Given the description of an element on the screen output the (x, y) to click on. 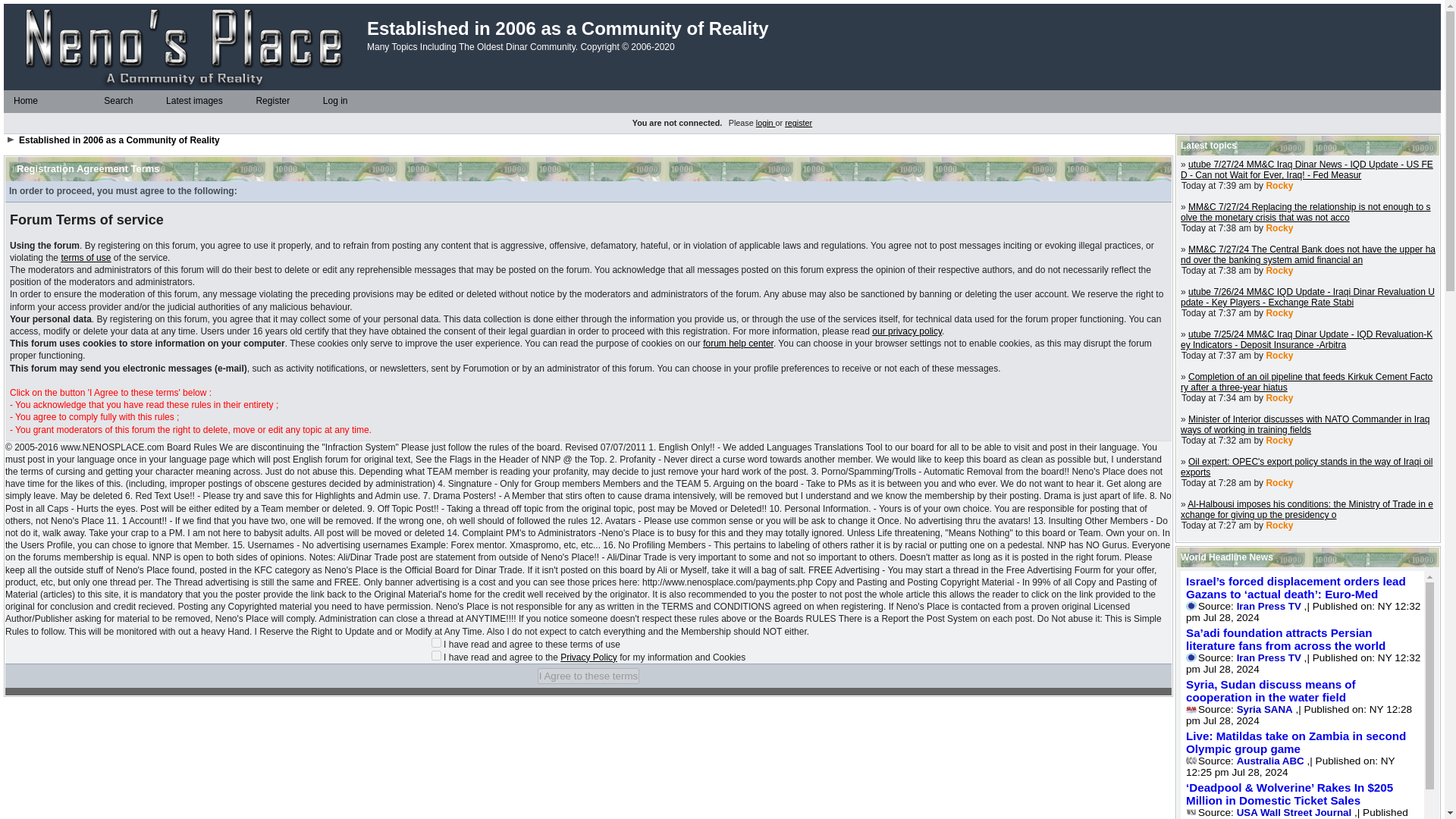
login (765, 122)
Log in (334, 101)
Log in (318, 101)
Home (25, 101)
Established in 2006 as a Community of Reality (118, 140)
our privacy policy (907, 330)
Register (251, 101)
terms of use (85, 257)
Search (98, 101)
Latest images (160, 101)
